Given the description of an element on the screen output the (x, y) to click on. 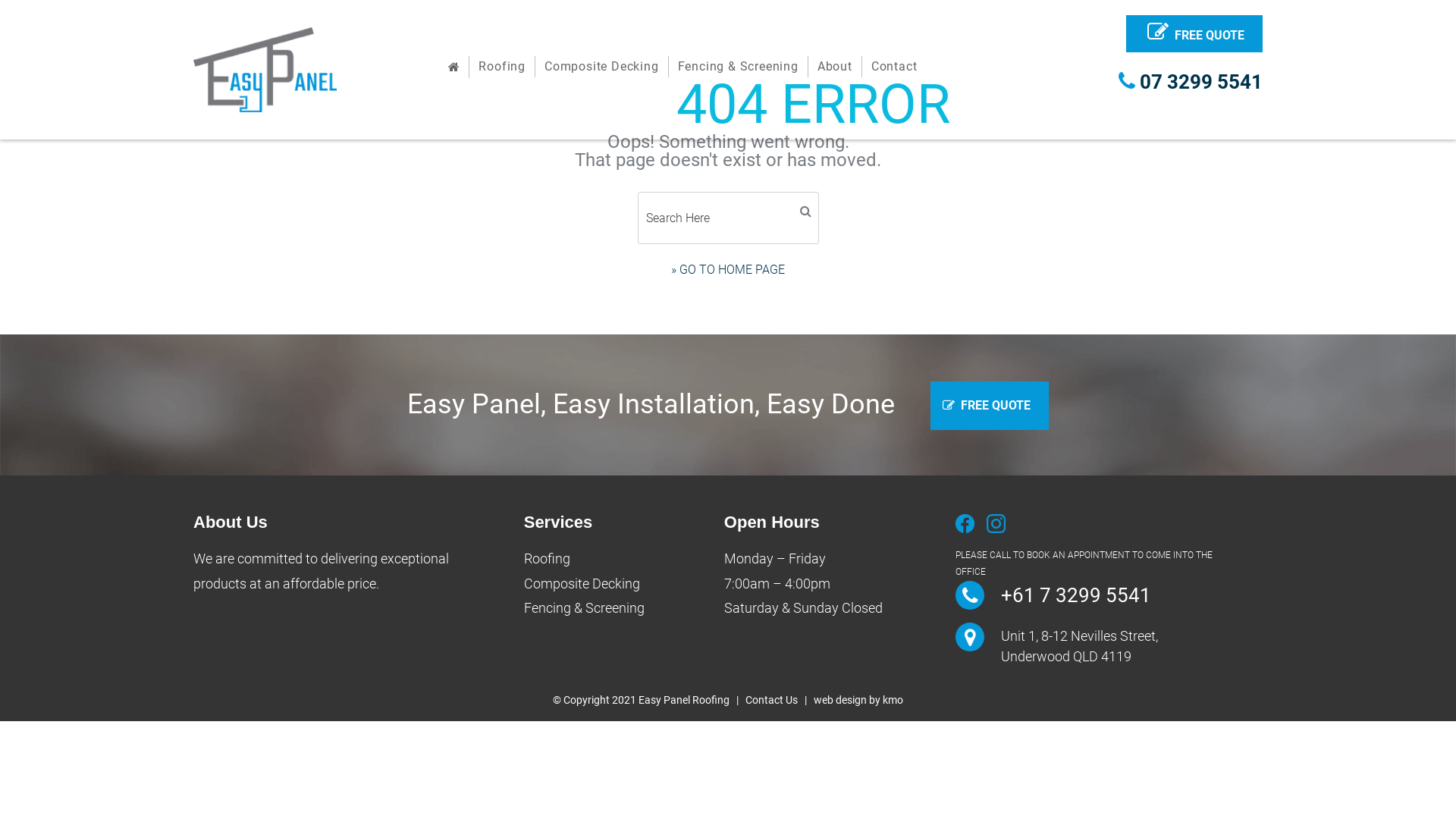
FREE QUOTE Element type: text (1194, 33)
Composite Decking Element type: text (601, 66)
Contact Element type: text (894, 66)
Fencing & Screening Element type: text (584, 607)
Unit 1, 8-12 Nevilles Street, Underwood QLD 4119 Element type: text (1079, 645)
+61 7 3299 5541 Element type: text (1076, 594)
FREE QUOTE Element type: text (989, 405)
Fencing & Screening Element type: text (738, 66)
About Element type: text (835, 66)
Roofing Element type: text (502, 66)
kmo Element type: text (892, 699)
Composite Decking Element type: text (582, 583)
07 3299 5541 Element type: text (1185, 81)
Contact Us Element type: text (771, 699)
Roofing Element type: text (547, 558)
